Given the description of an element on the screen output the (x, y) to click on. 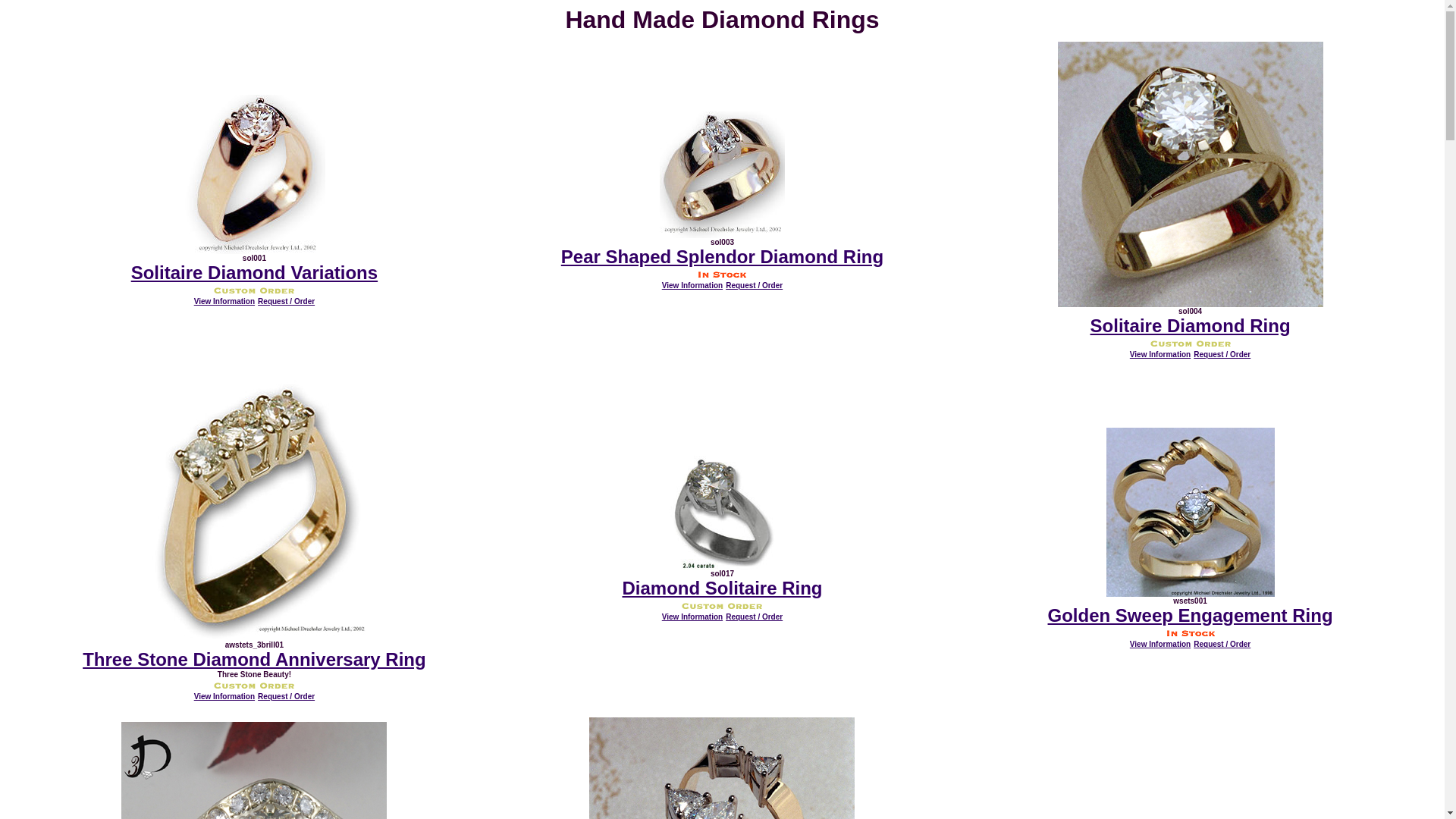
View Information Element type: text (692, 284)
Request / Order Element type: text (285, 696)
Request / Order Element type: text (285, 301)
Golden Sweep Engagement Ring Element type: text (1190, 615)
Three Stone Diamond Anniversary Ring Element type: text (254, 659)
Request / Order Element type: text (1221, 644)
Pear Shaped Splendor Diamond Ring Element type: text (722, 255)
View Information Element type: text (224, 696)
Diamond Solitaire Ring Element type: text (721, 587)
Request / Order Element type: text (753, 616)
View Information Element type: text (1159, 644)
Solitaire Diamond Variations Element type: text (254, 272)
Request / Order Element type: text (753, 284)
Request / Order Element type: text (1221, 354)
View Information Element type: text (1159, 354)
View Information Element type: text (224, 301)
View Information Element type: text (692, 616)
Solitaire Diamond Ring Element type: text (1190, 325)
